Given the description of an element on the screen output the (x, y) to click on. 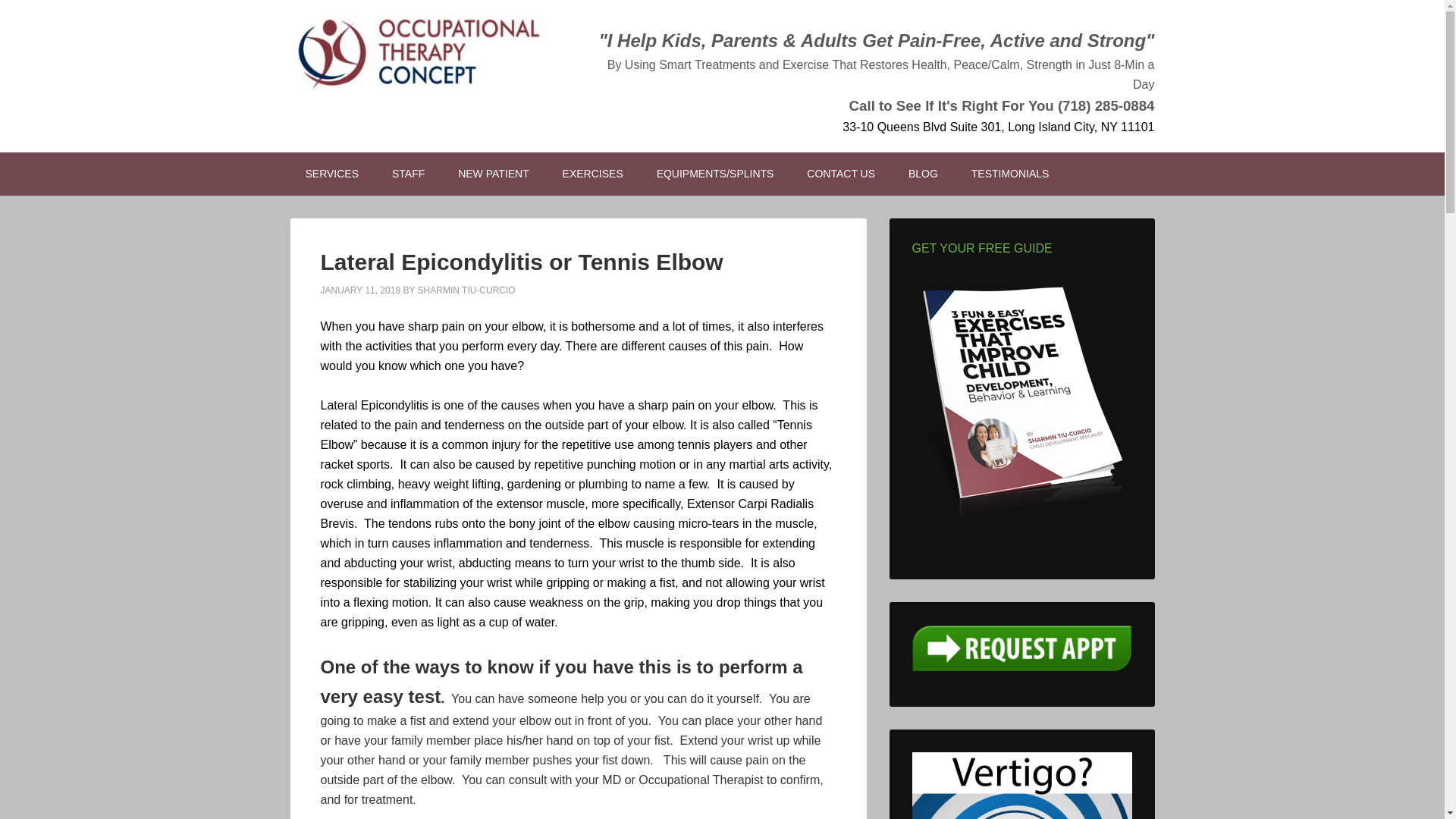
33-10 Queens Blvd Suite 301, Long Island City, NY 11101 (998, 126)
SHARMIN TIU-CURCIO (466, 290)
TESTIMONIALS (1010, 173)
NEW PATIENT (493, 173)
CONTACT US (840, 173)
BLOG (923, 173)
EXERCISES (593, 173)
SERVICES (331, 173)
STAFF (408, 173)
